Given the description of an element on the screen output the (x, y) to click on. 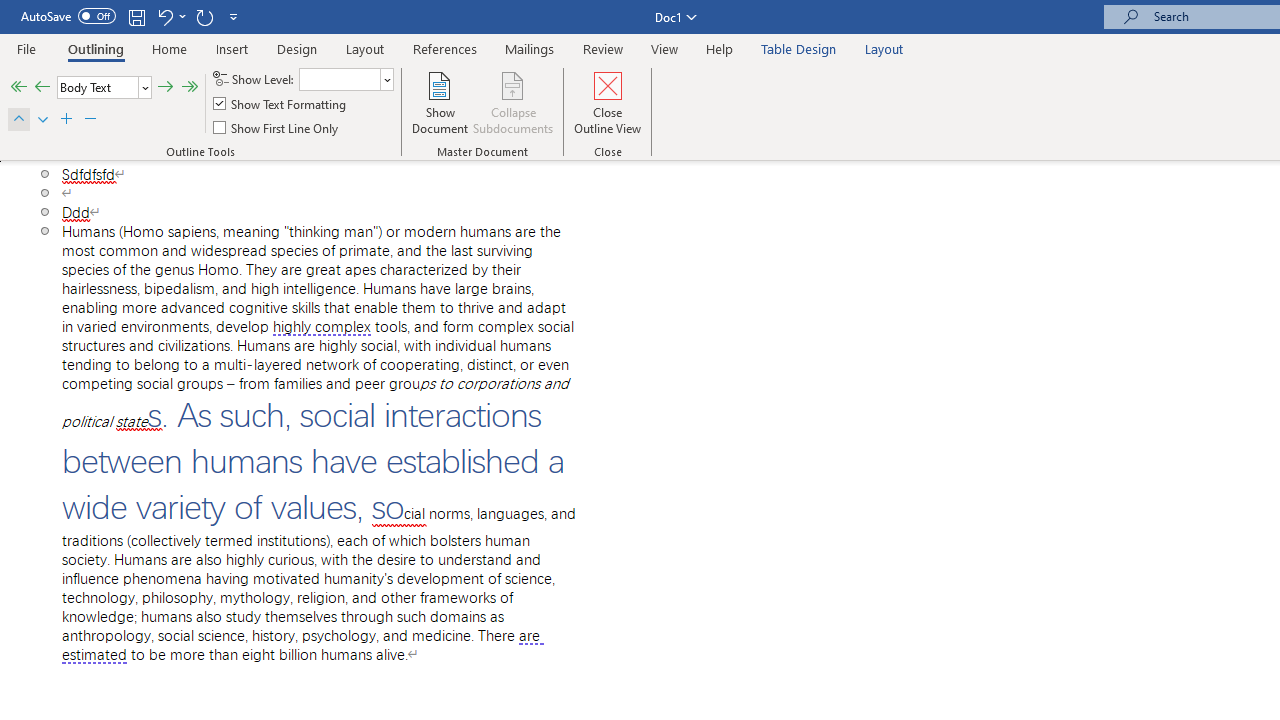
AutoSave (68, 16)
Move Up (18, 119)
View (664, 48)
Quick Access Toolbar (131, 16)
Show Document (440, 102)
Collapse Subdocuments (513, 102)
Demote to Body Text (189, 87)
References (445, 48)
Move Down (42, 119)
More Options (182, 15)
Expand (67, 119)
Mailings (529, 48)
Design (297, 48)
Show First Line Only (277, 126)
Layout (884, 48)
